Given the description of an element on the screen output the (x, y) to click on. 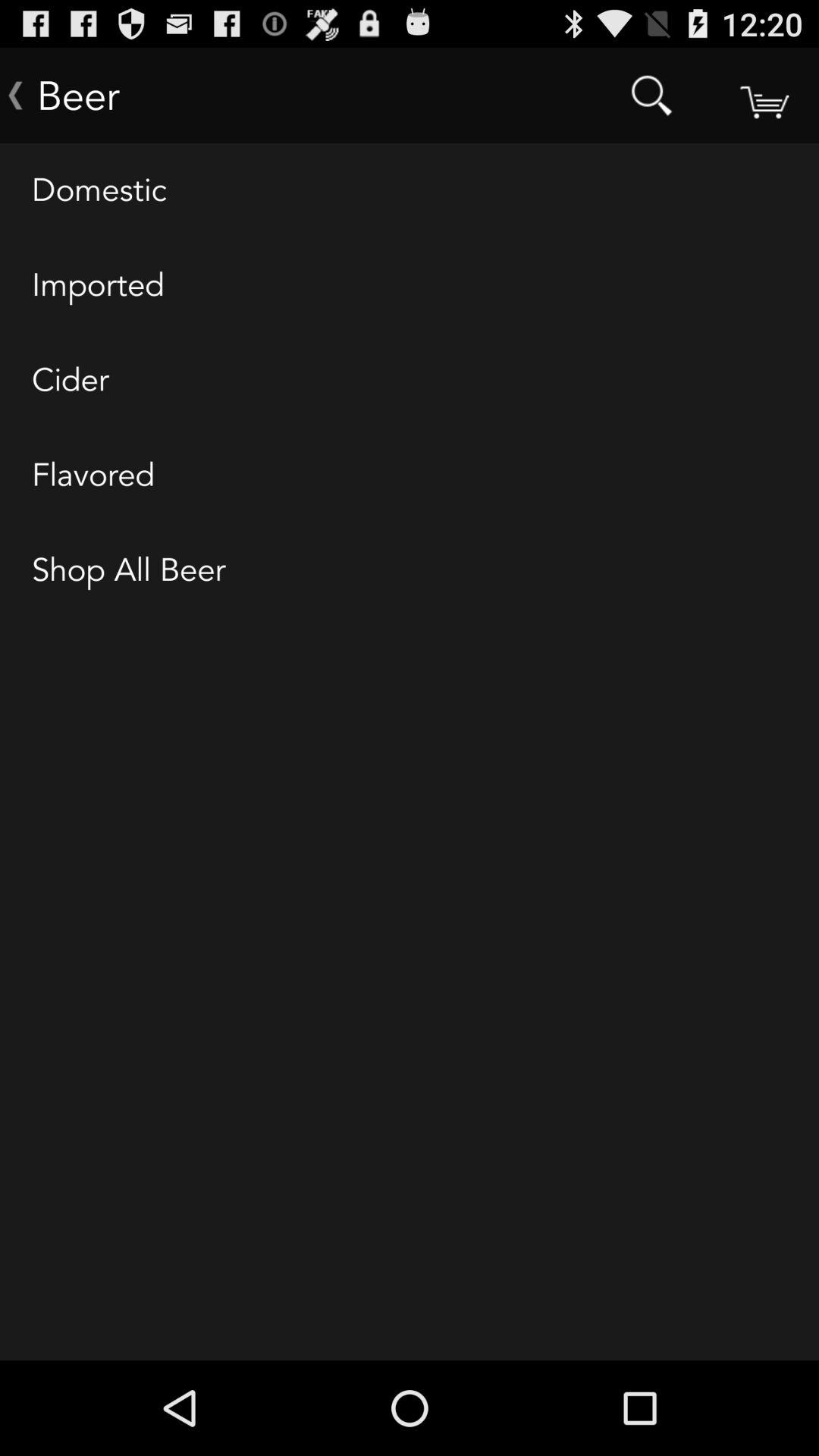
turn off item below the flavored item (409, 570)
